Given the description of an element on the screen output the (x, y) to click on. 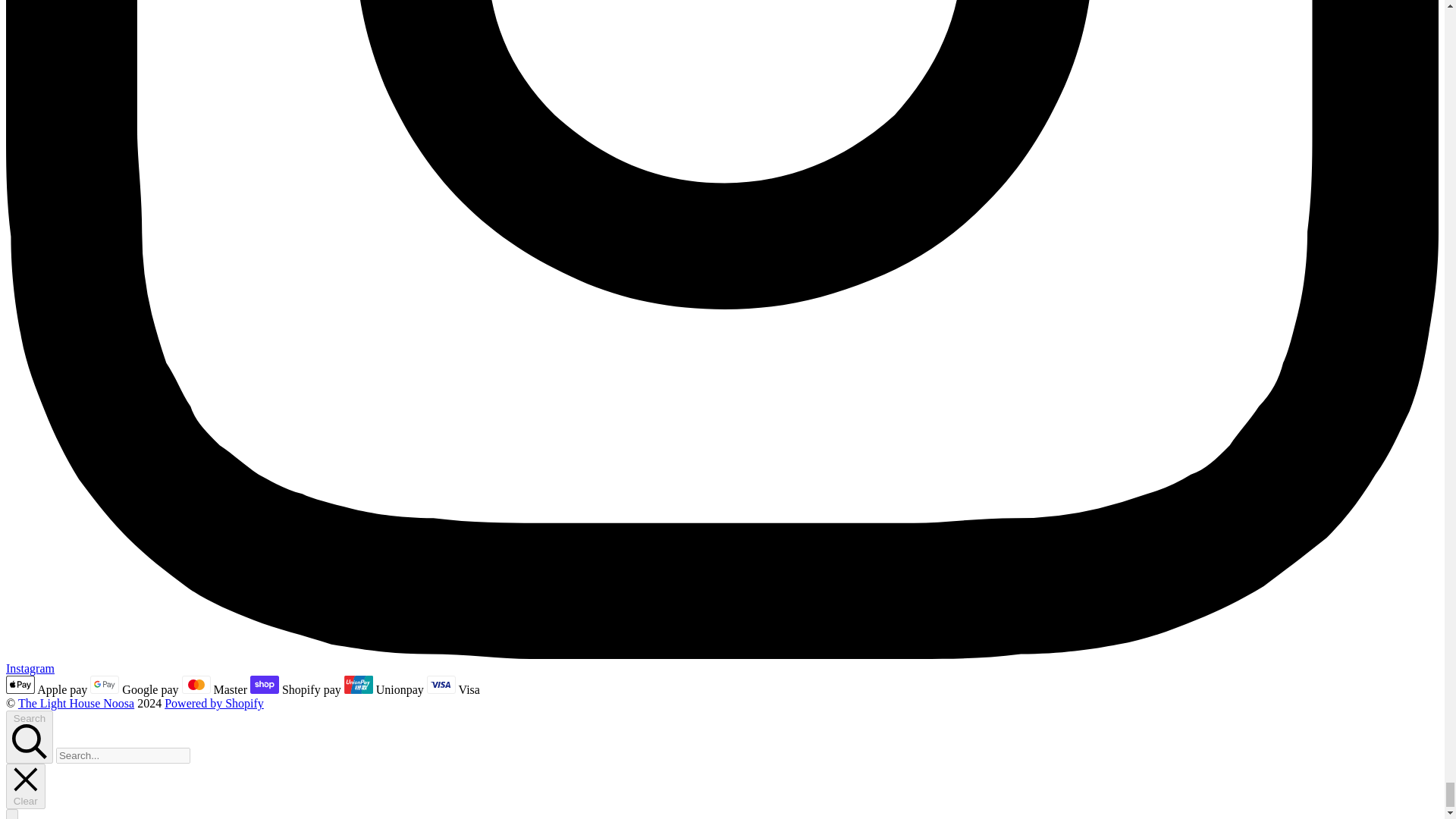
Shop Pay (264, 684)
Google Pay (104, 684)
Mastercard (196, 684)
Visa (440, 684)
Apple Pay (19, 684)
Union Pay (357, 684)
